Given the description of an element on the screen output the (x, y) to click on. 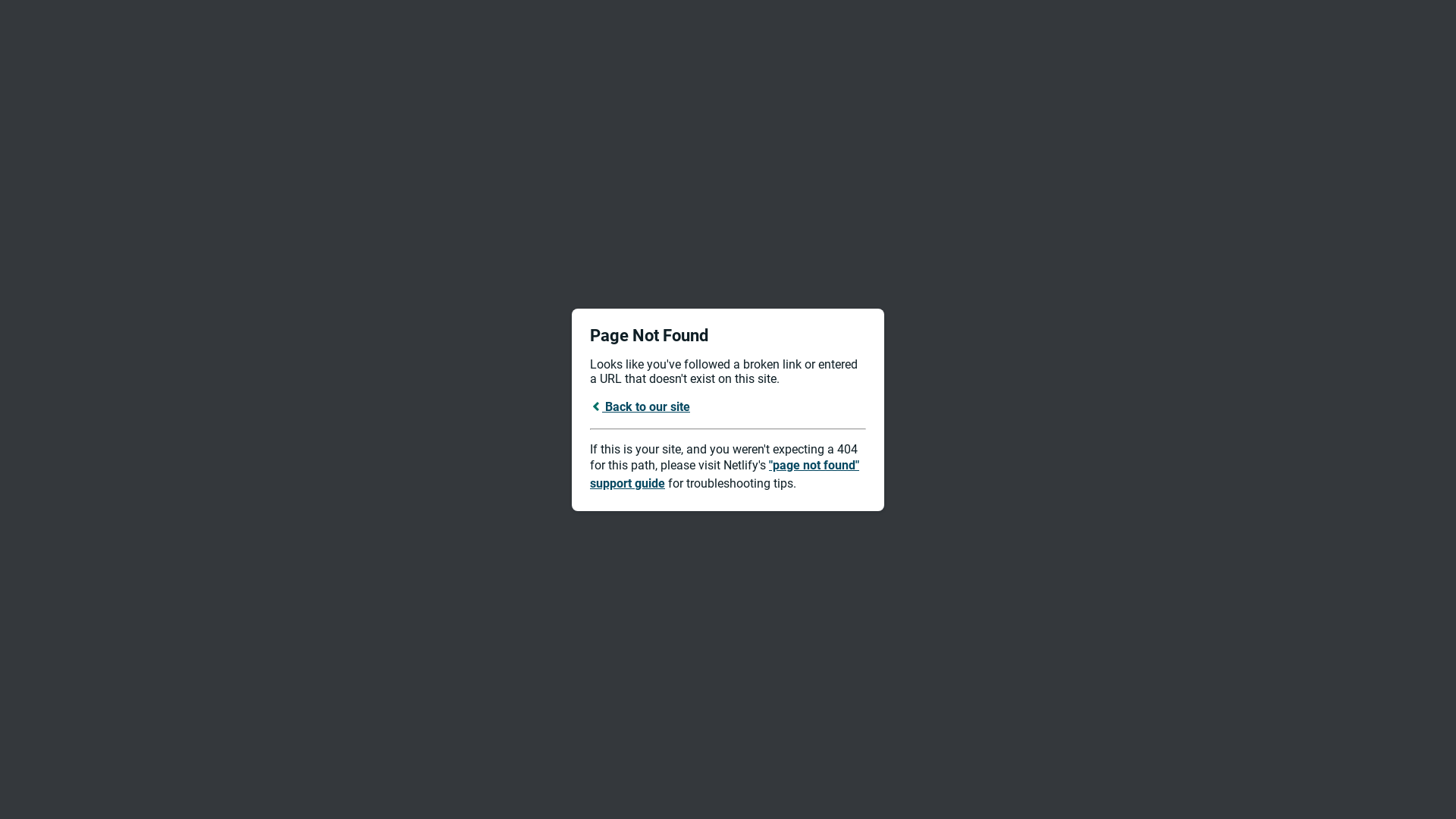
Back to our site Element type: text (639, 405)
"page not found" support guide Element type: text (724, 474)
